Given the description of an element on the screen output the (x, y) to click on. 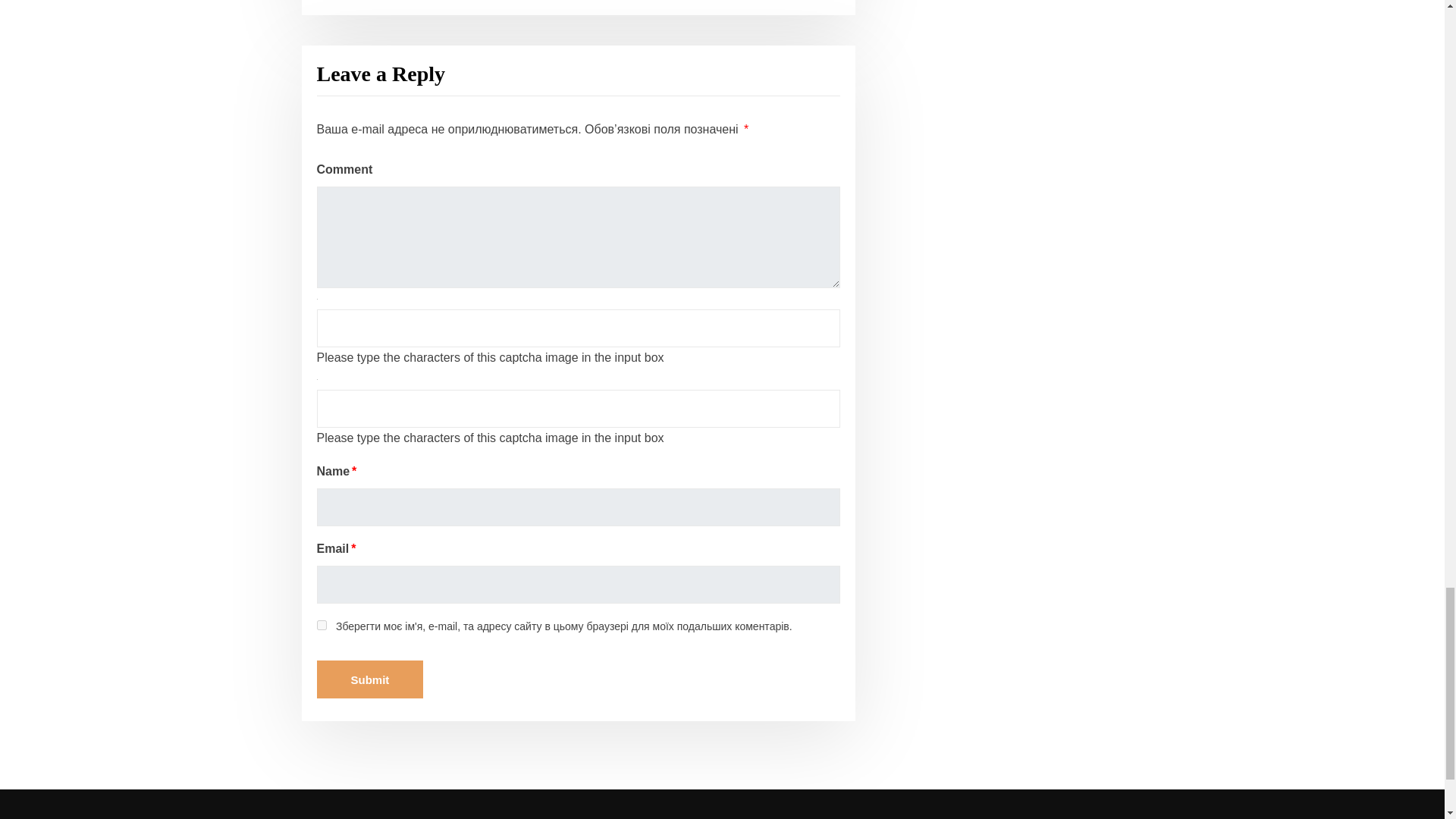
yes (321, 624)
Submit (370, 679)
Submit (370, 679)
